Given the description of an element on the screen output the (x, y) to click on. 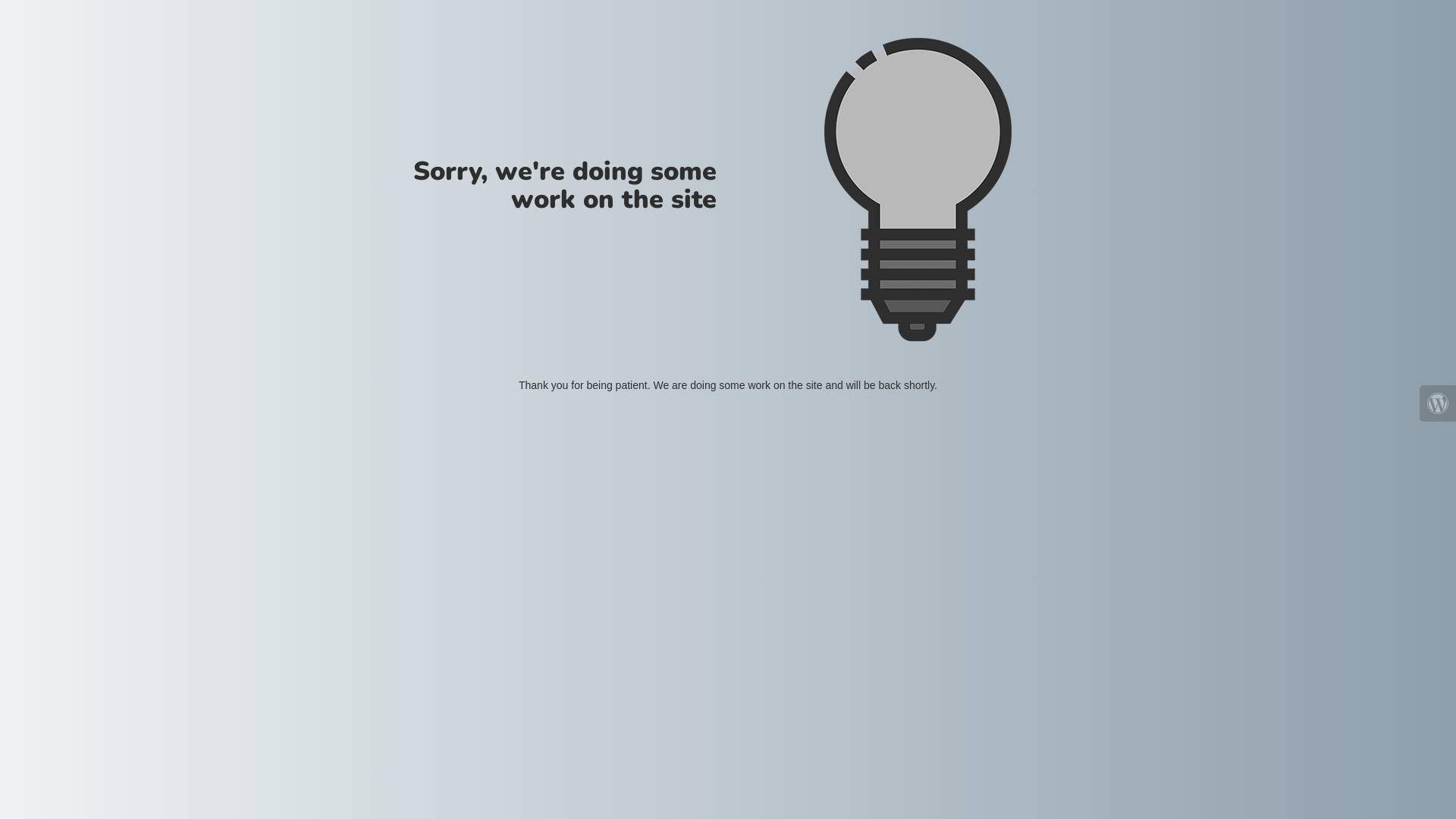
Switching on the site soon ... Element type: hover (916, 189)
